Given the description of an element on the screen output the (x, y) to click on. 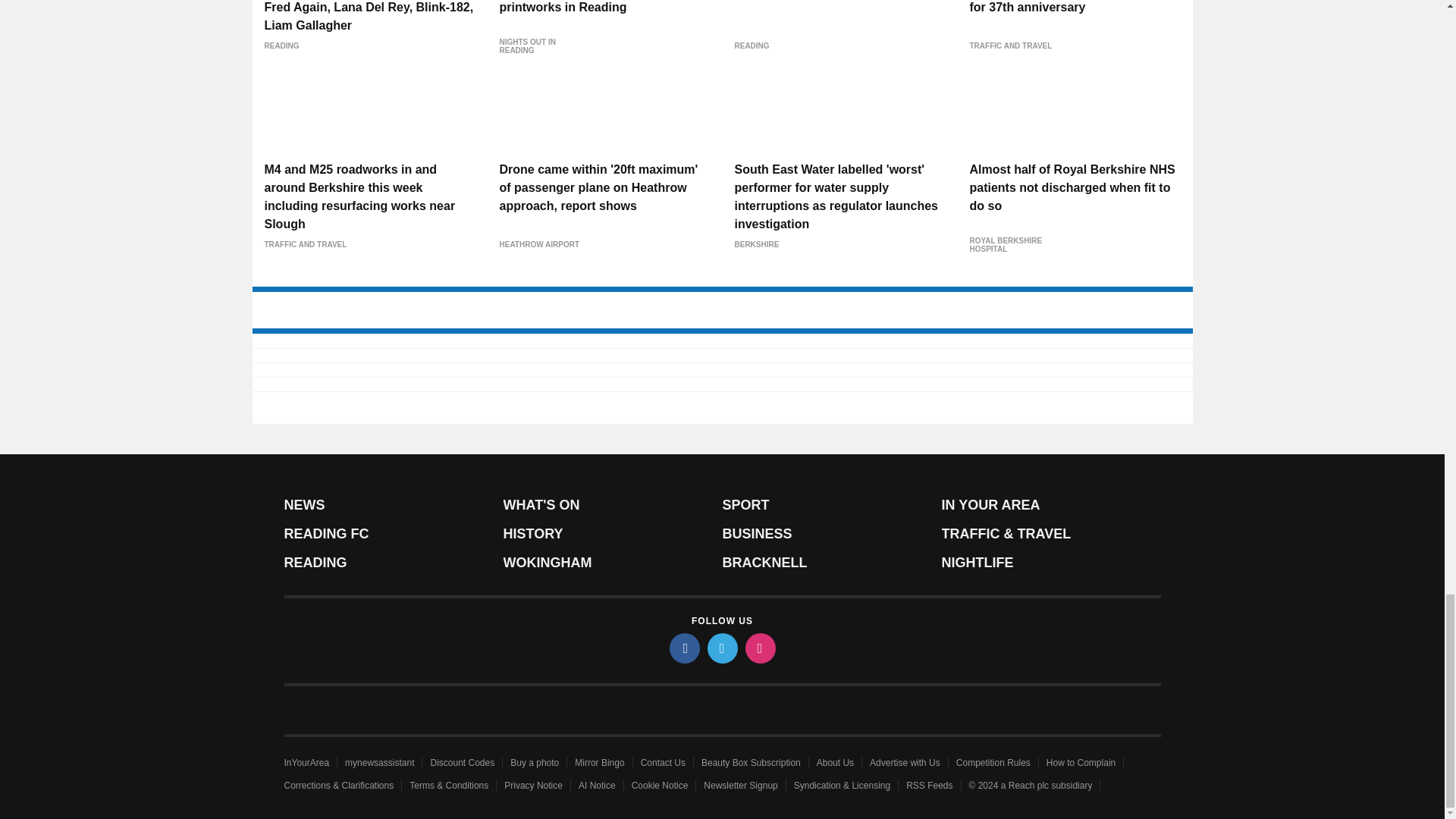
twitter (721, 648)
facebook (683, 648)
instagram (759, 648)
